Given the description of an element on the screen output the (x, y) to click on. 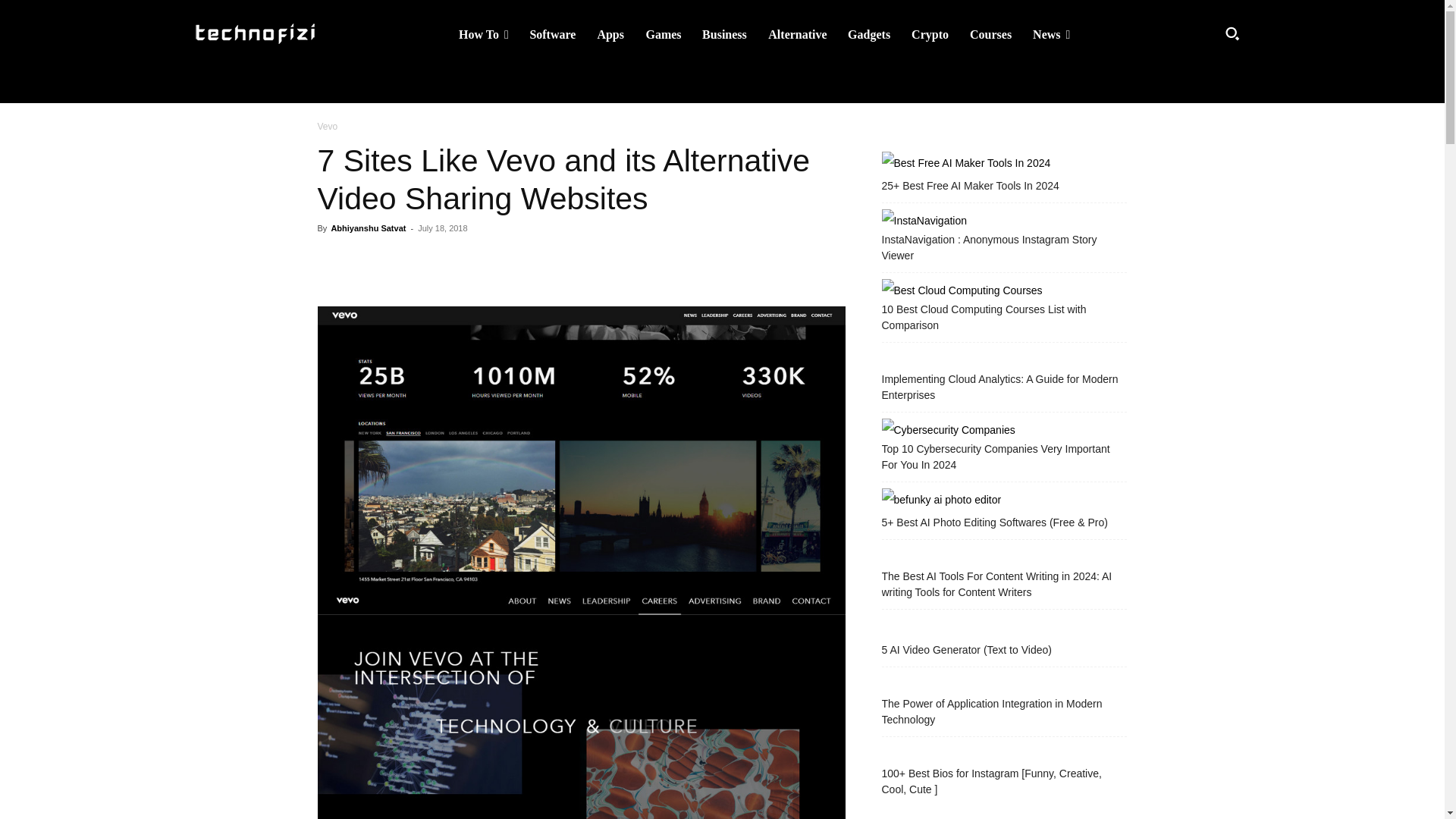
Alternative (797, 34)
Games (662, 34)
Apps (610, 34)
Crypto (930, 34)
How To (483, 34)
Abhiyanshu Satvat (368, 227)
Courses (990, 34)
News (1051, 34)
Gadgets (869, 34)
Business (724, 34)
